Given the description of an element on the screen output the (x, y) to click on. 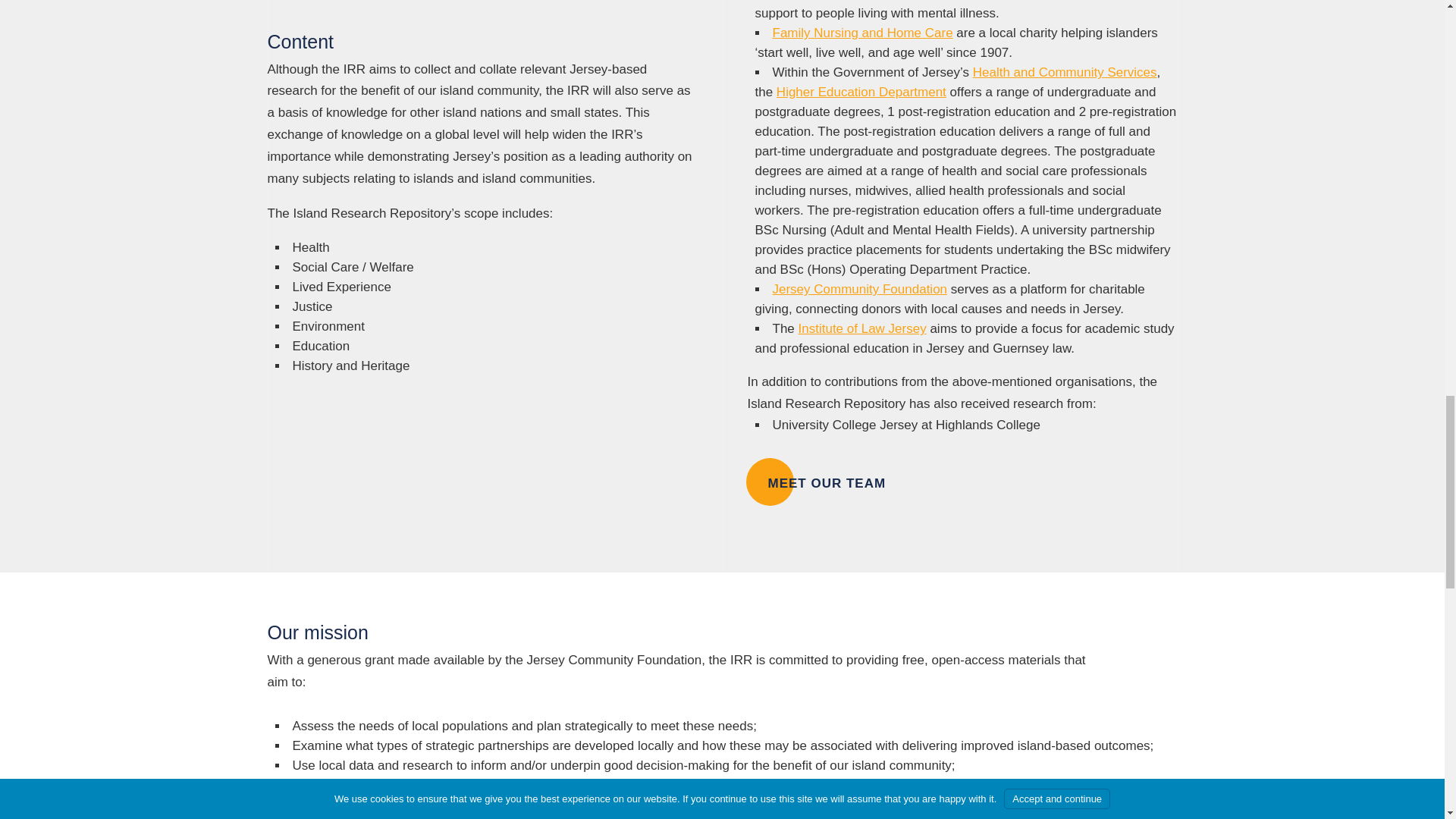
Mind Jersey (806, 0)
Health and Community Services (1064, 72)
Jersey Community Foundation (859, 288)
Institute of Law Jersey (861, 328)
Family Nursing and Home Care (861, 32)
MEET OUR TEAM (826, 483)
Higher Education Department (861, 92)
